Given the description of an element on the screen output the (x, y) to click on. 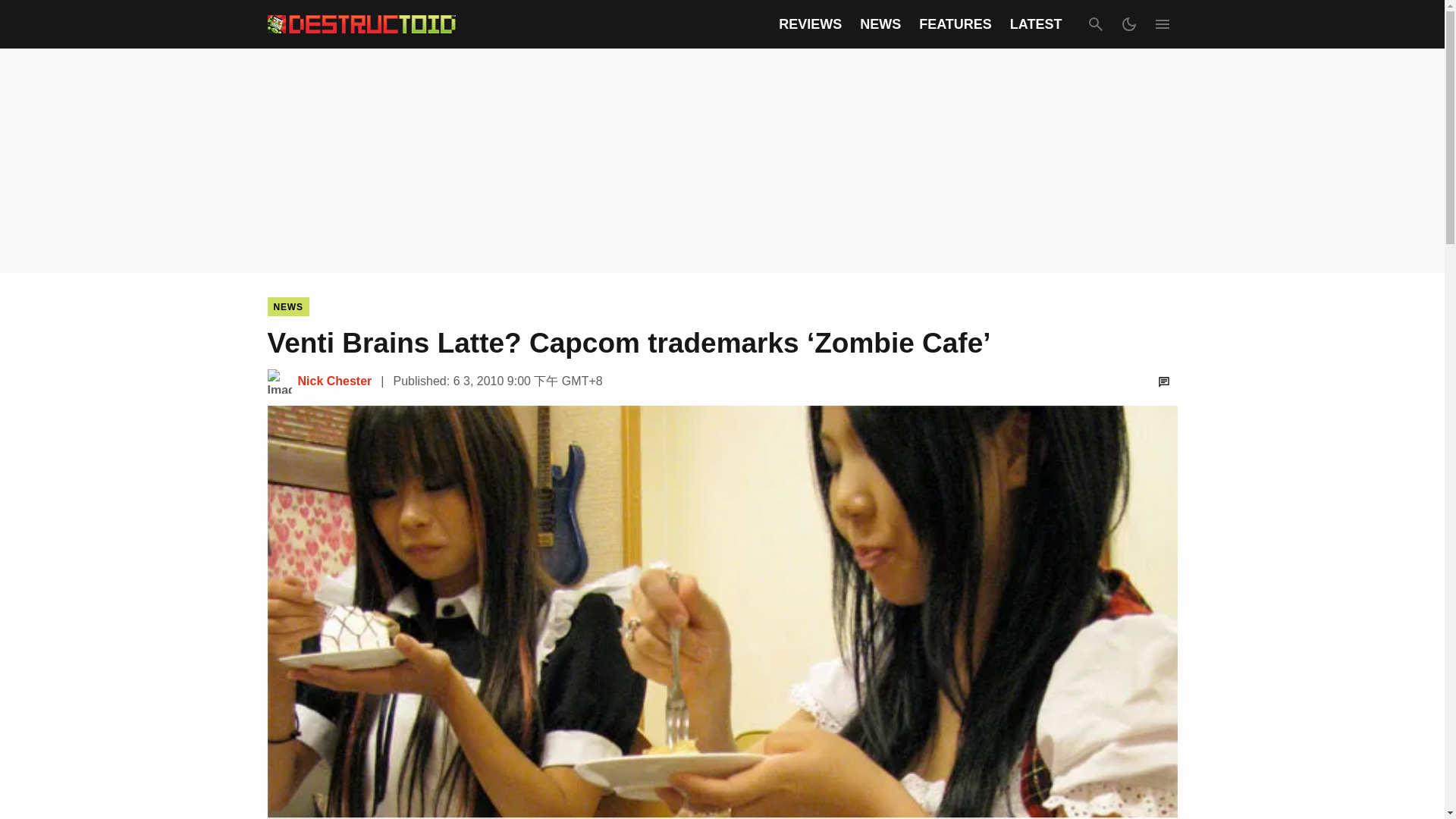
Expand Menu (1161, 24)
REVIEWS (809, 23)
Search (1094, 24)
LATEST (1036, 23)
FEATURES (954, 23)
Dark Mode (1127, 24)
NEWS (287, 306)
NEWS (880, 23)
